Given the description of an element on the screen output the (x, y) to click on. 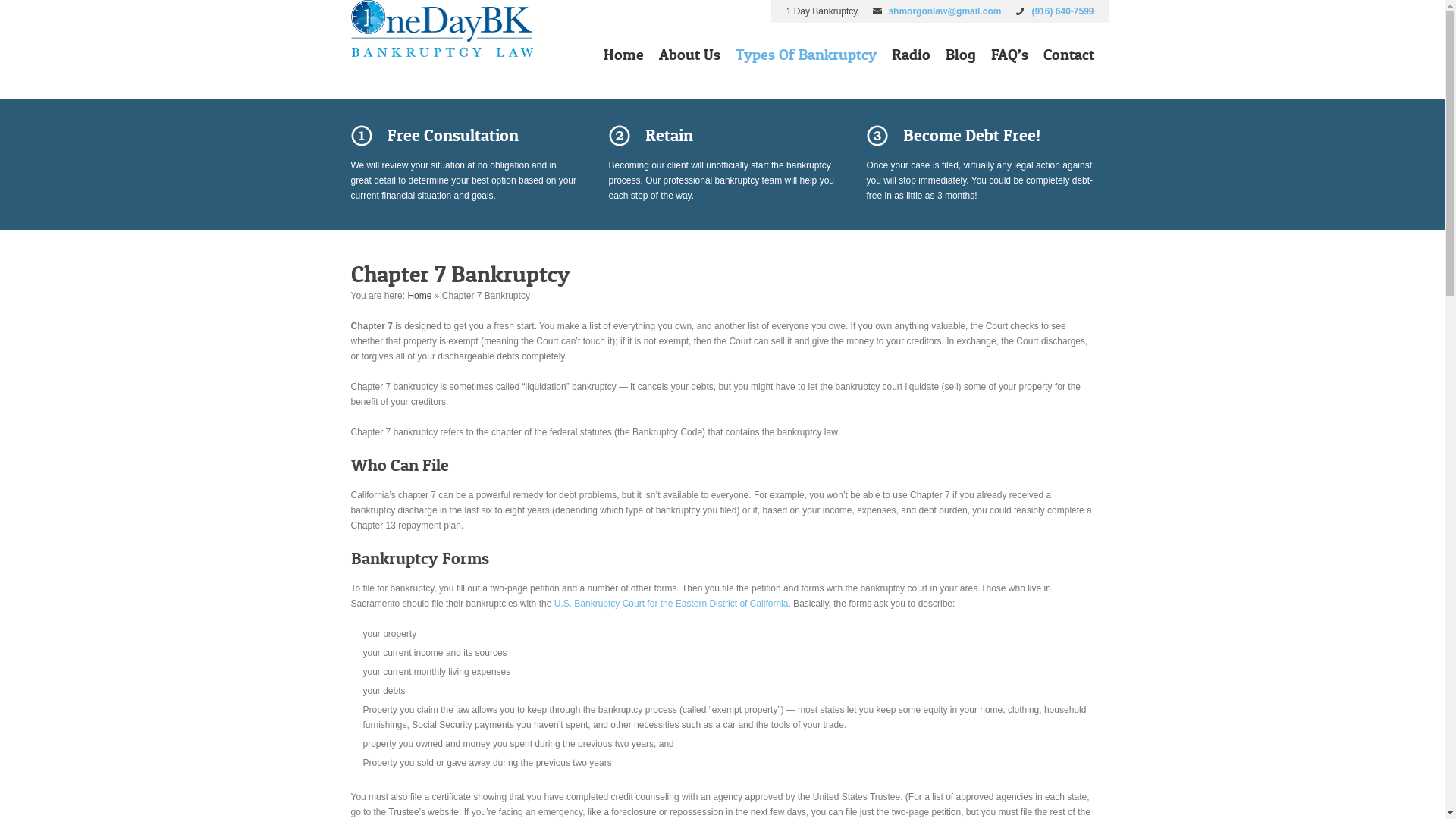
Blog Element type: text (959, 57)
Types Of Bankruptcy Element type: text (805, 57)
shmorgonlaw@gmail.com Element type: text (944, 11)
Home Element type: text (419, 295)
Contact Element type: text (1068, 57)
(916) 640-7599 Element type: text (1062, 11)
U.S. Bankruptcy Court for the Eastern District of California Element type: text (671, 603)
Radio Element type: text (910, 57)
Free Consultation Element type: text (463, 135)
Become Debt Free! Element type: text (979, 135)
Retain Element type: text (721, 135)
About Us Element type: text (688, 57)
Home Element type: text (623, 57)
